Given the description of an element on the screen output the (x, y) to click on. 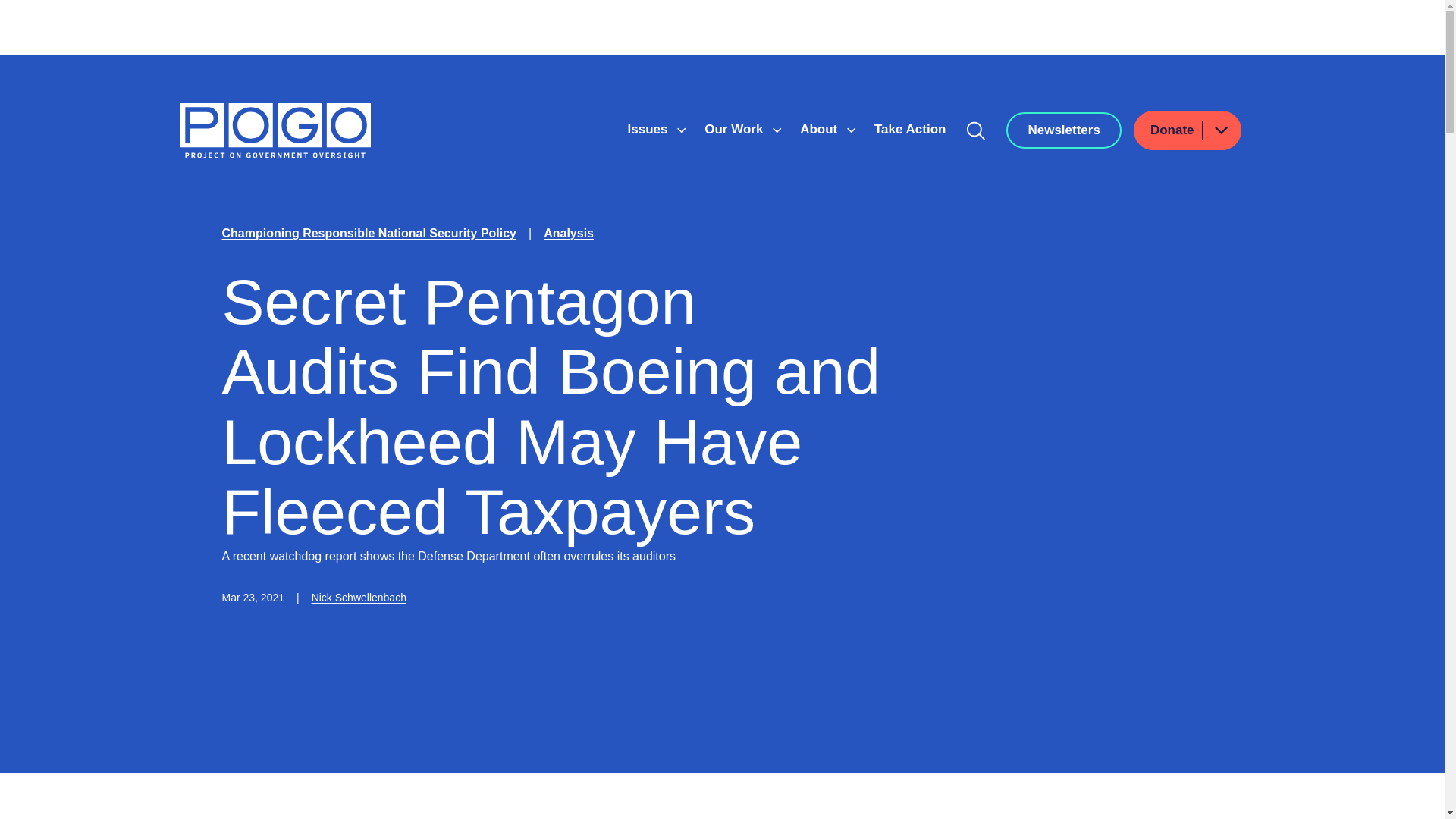
Home (274, 130)
Search (976, 130)
Show submenu for Issues (681, 130)
Our Work (735, 129)
Newsletters (1063, 130)
About (820, 129)
Issues (649, 129)
Take Action (909, 129)
Show submenu for Our Work (777, 130)
Show submenu for Donate (1220, 129)
